Given the description of an element on the screen output the (x, y) to click on. 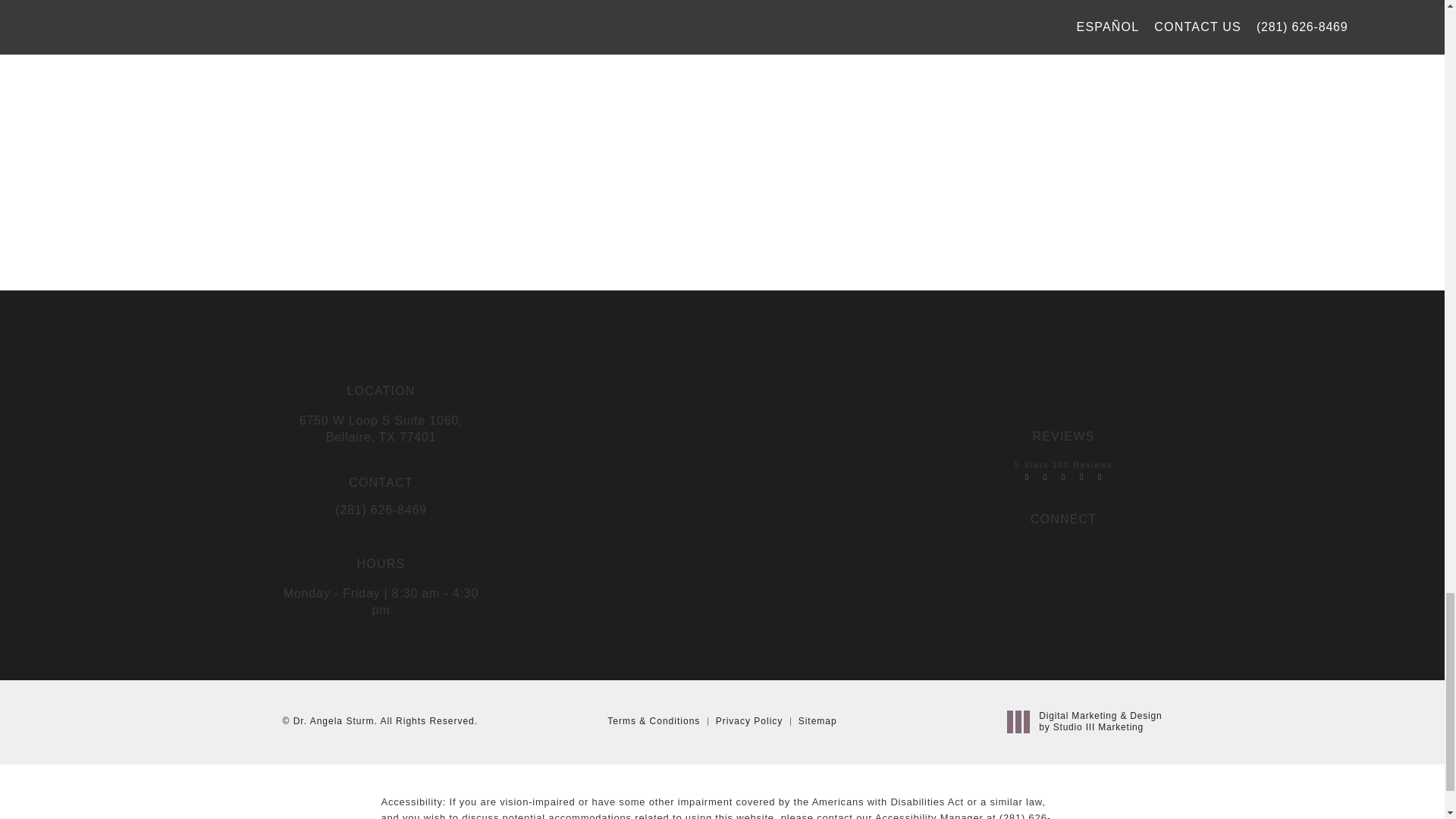
Dr. Angela Sturm on Youtube (1092, 549)
Dr. Angela Sturm on Facebook (1062, 549)
Dr. Angela Sturm on Instagram (1032, 549)
